Given the description of an element on the screen output the (x, y) to click on. 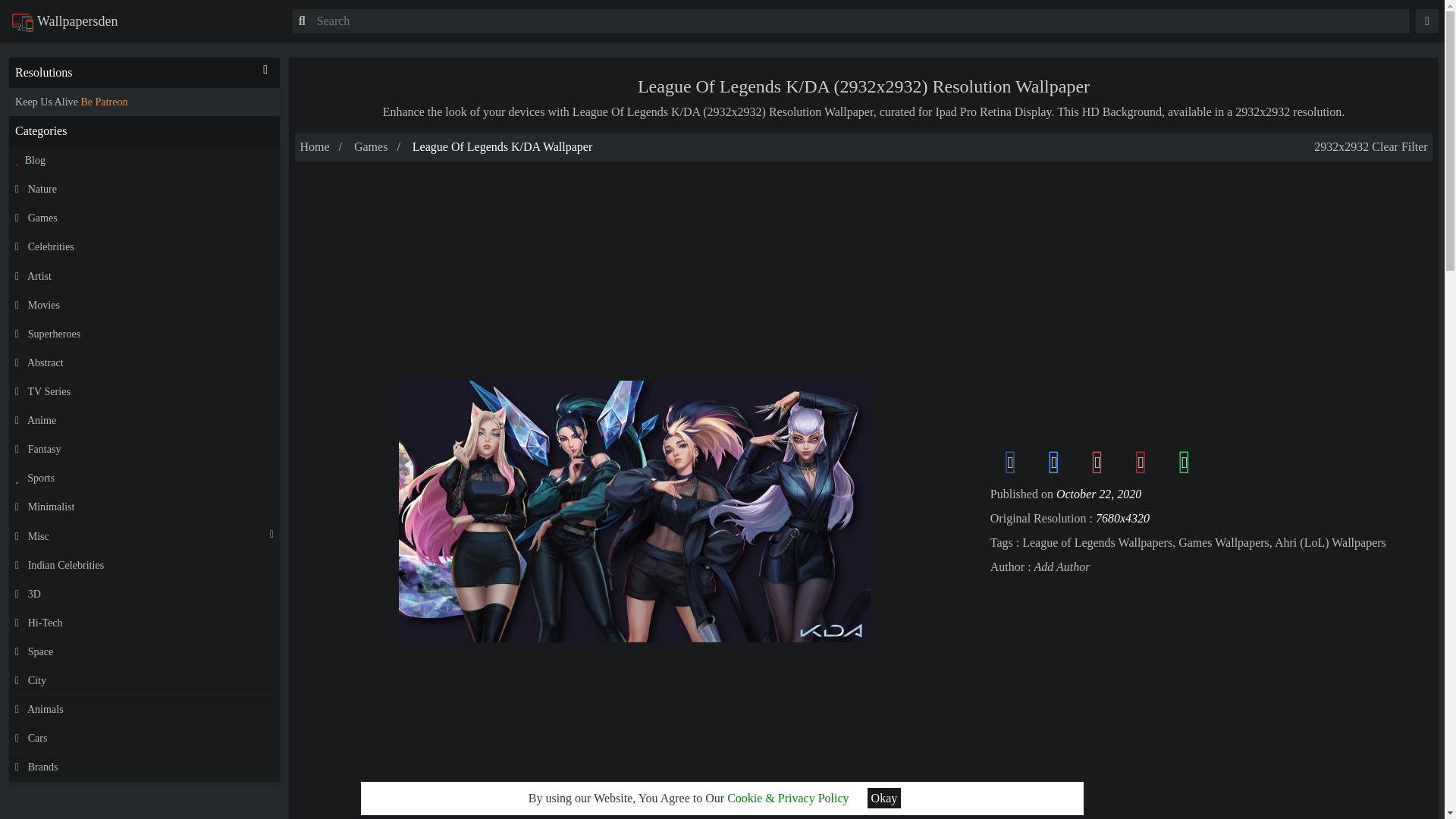
Wallpapersden (64, 20)
